Given the description of an element on the screen output the (x, y) to click on. 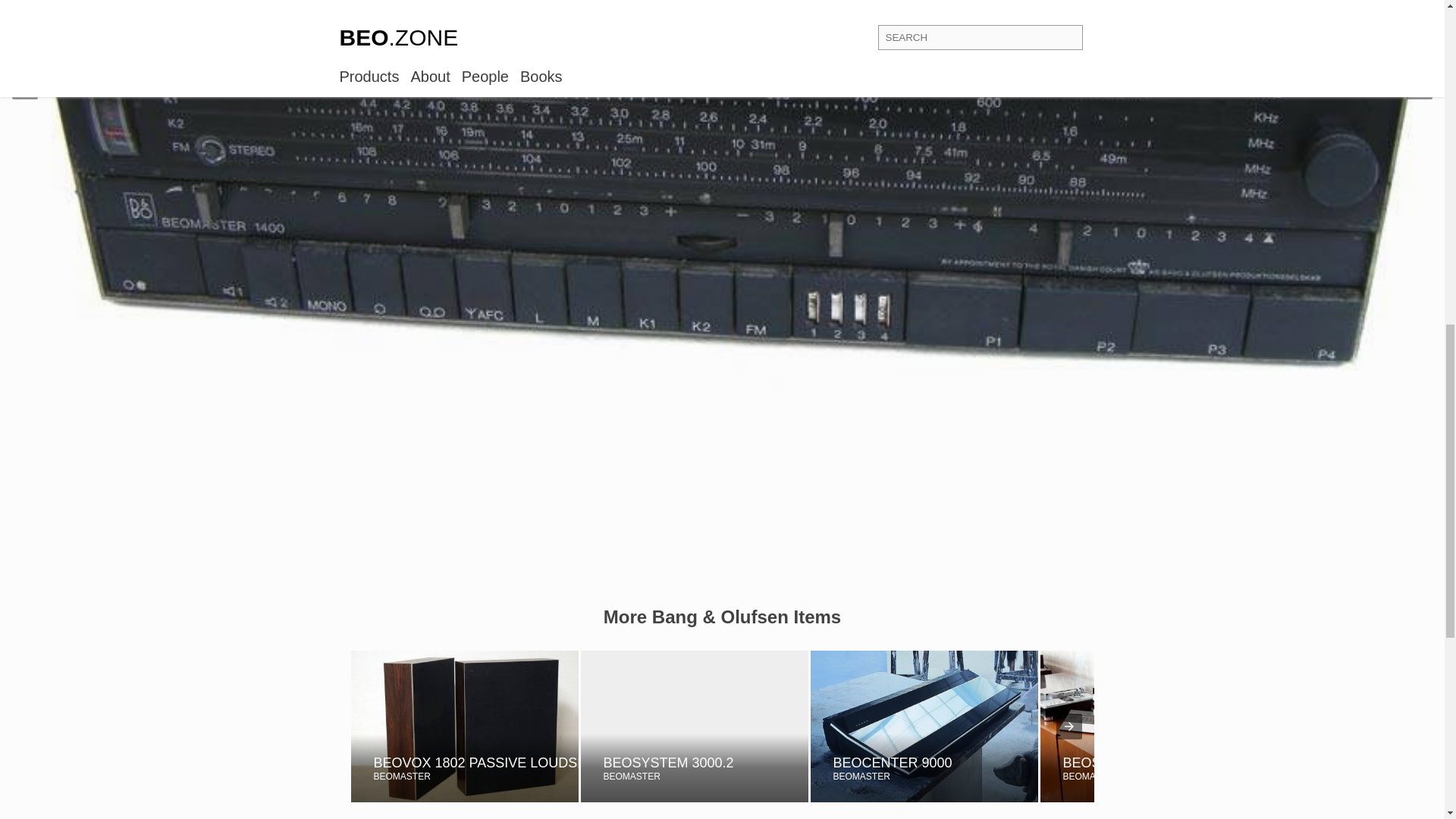
3rd party ad content (922, 726)
